Given the description of an element on the screen output the (x, y) to click on. 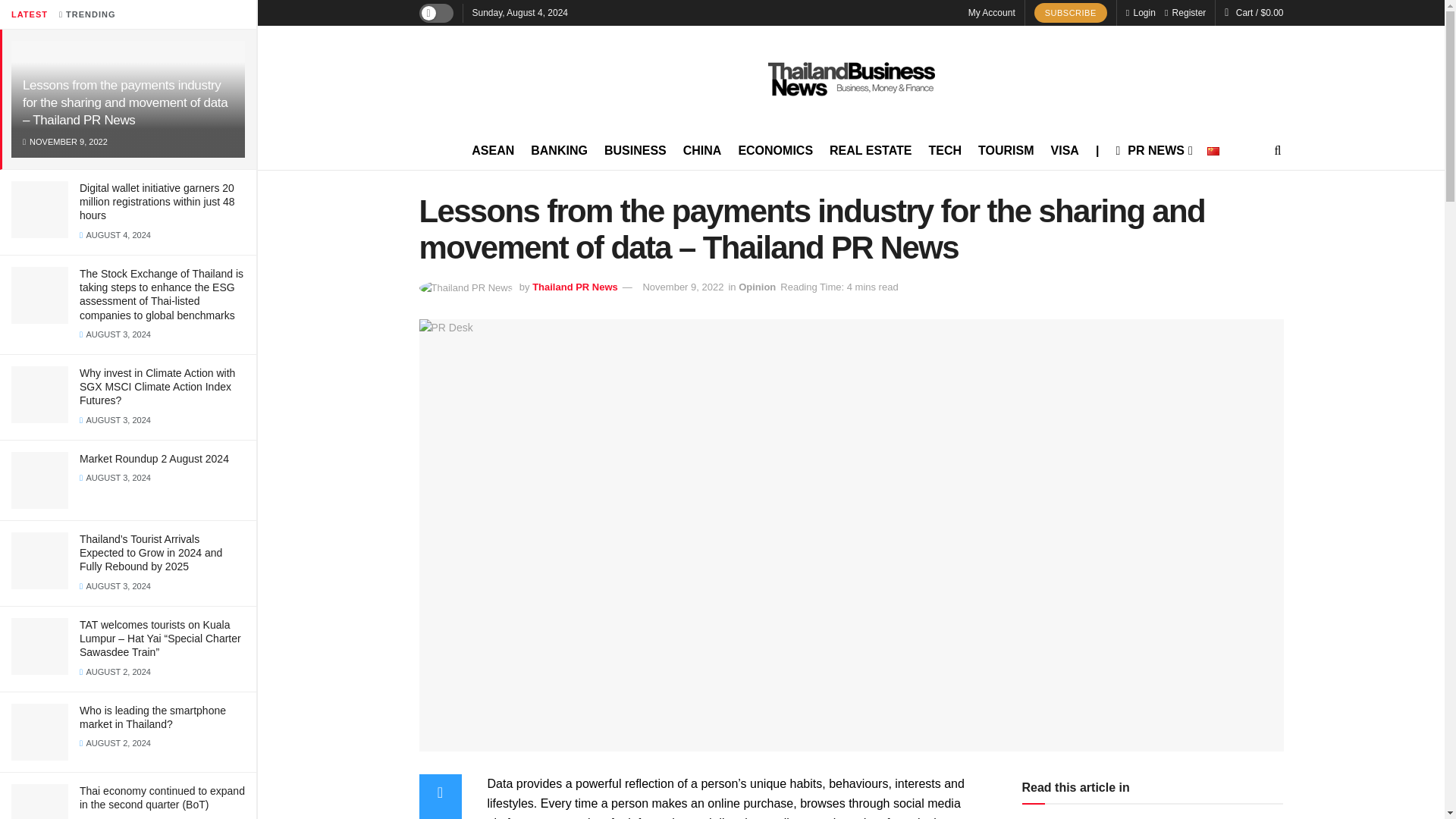
View your shopping cart (1260, 12)
ASEAN (492, 150)
Login (1140, 12)
BANKING (559, 150)
TECH (945, 150)
Market Roundup 2 August 2024 (154, 458)
REAL ESTATE (870, 150)
SUBSCRIBE (1069, 12)
BUSINESS (635, 150)
